Given the description of an element on the screen output the (x, y) to click on. 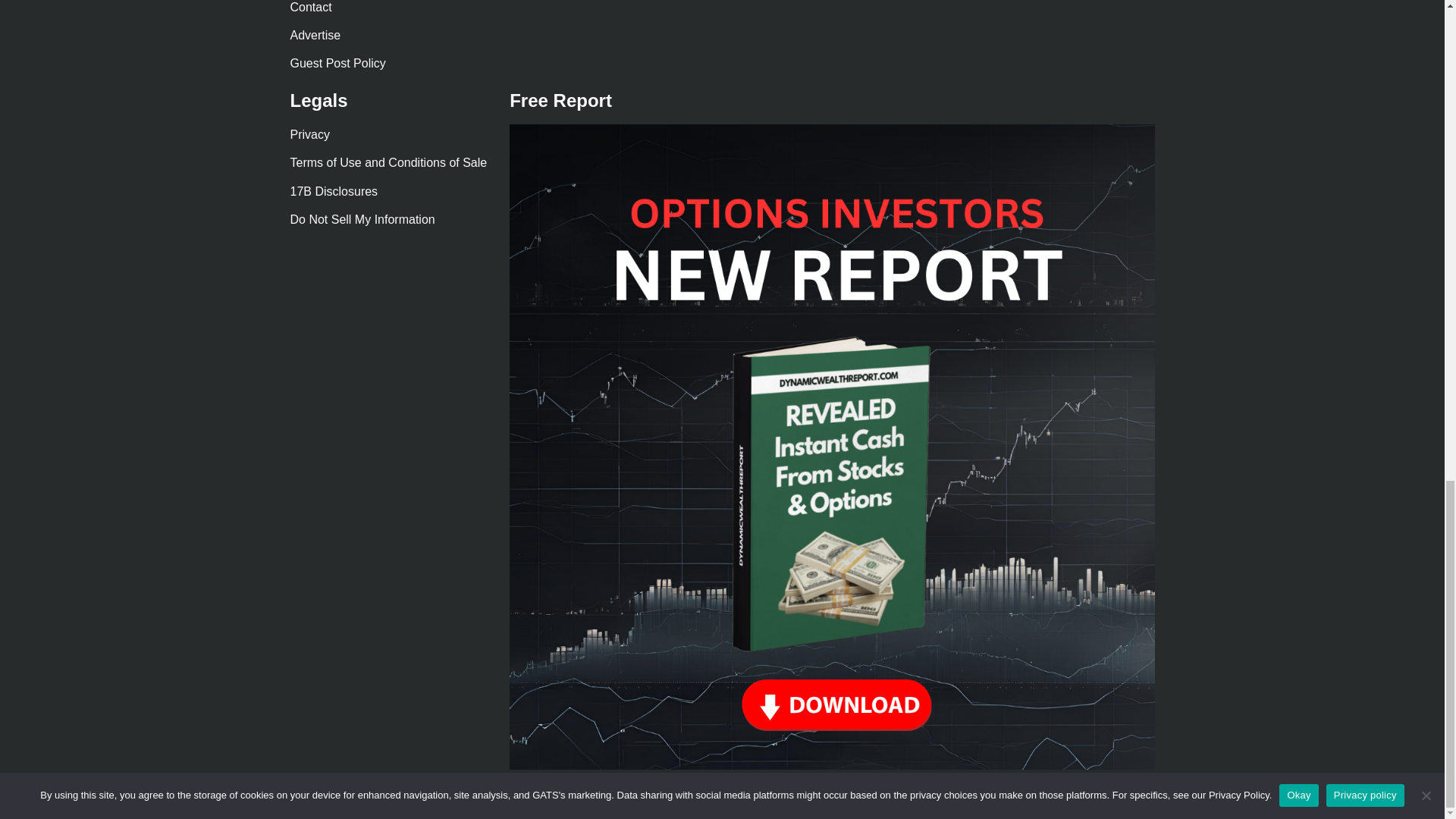
17B Disclosures (333, 191)
Privacy (309, 133)
Terms of Use and Conditions of Sale (387, 162)
Contact (310, 6)
Do Not Sell My Information (361, 219)
Guest Post Policy (337, 62)
Advertise (314, 34)
